Given the description of an element on the screen output the (x, y) to click on. 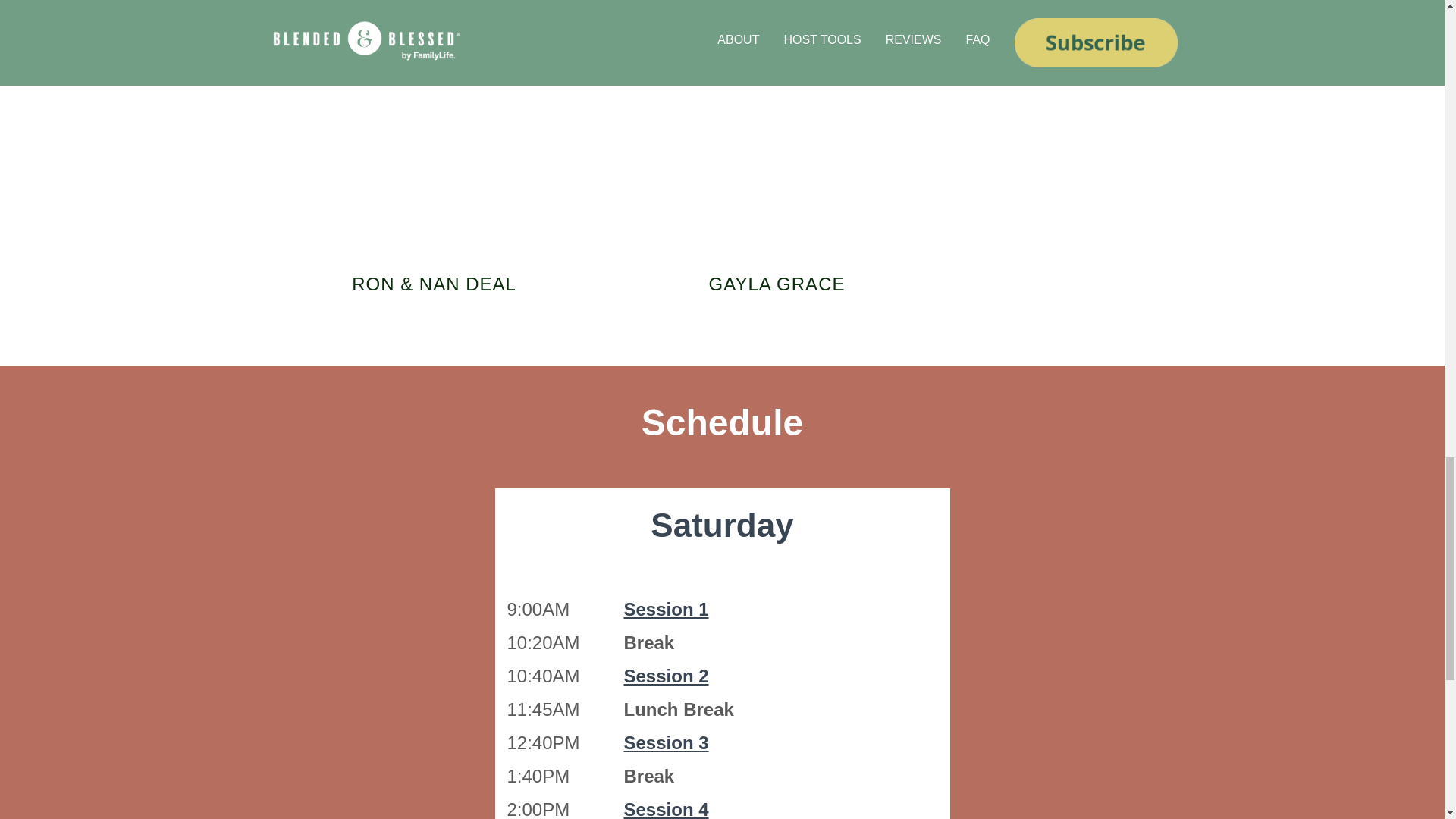
Session 2 (665, 675)
GAYLA GRACE (776, 284)
Session 4 (665, 809)
Session 3 (665, 742)
Session 1 (665, 608)
